Given the description of an element on the screen output the (x, y) to click on. 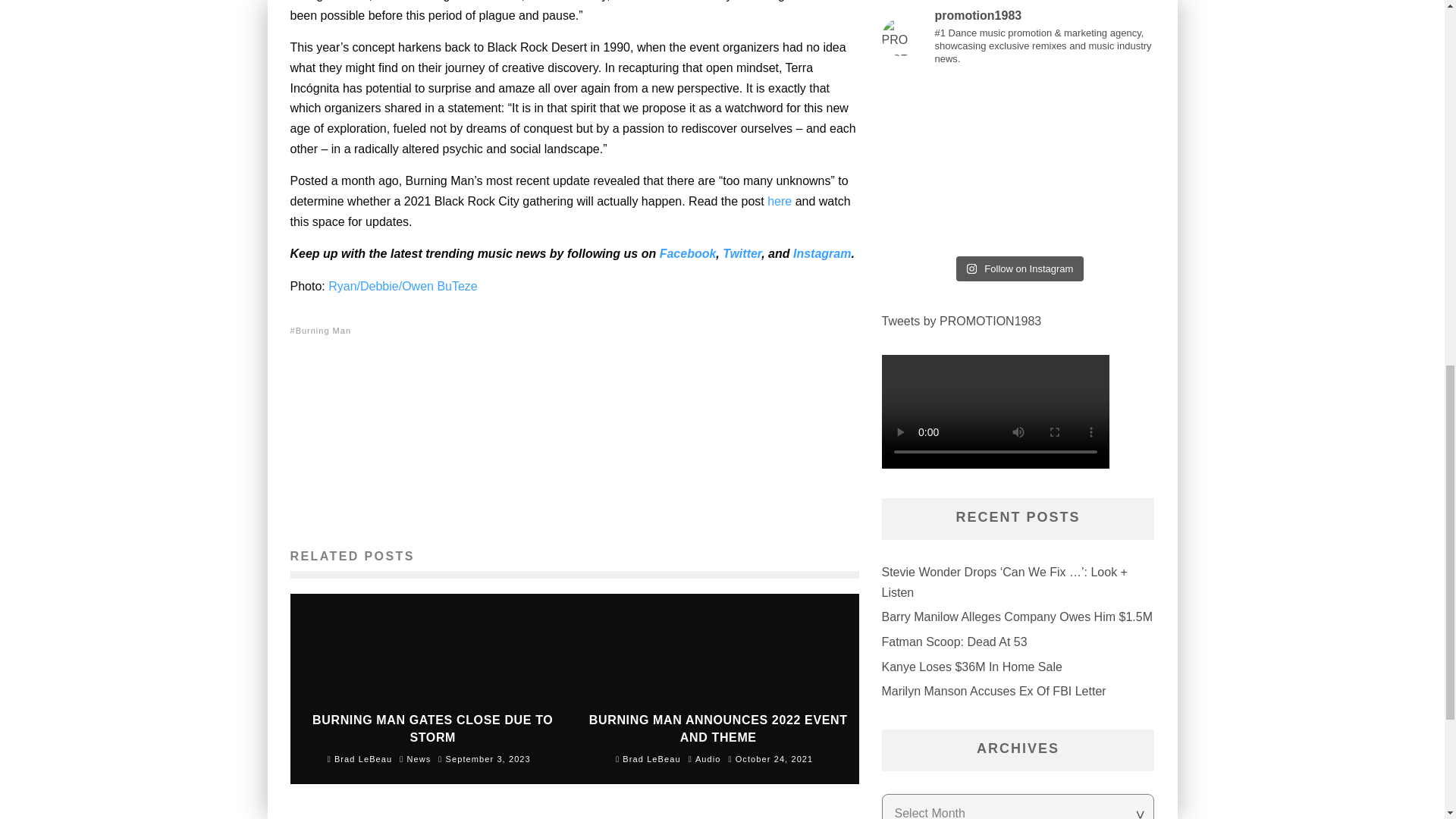
Instagram (821, 253)
Advertisement (581, 443)
BURNING MAN GATES CLOSE DUE TO STORM (433, 727)
Twitter (741, 253)
Audio (707, 758)
Brad LeBeau (648, 758)
Brad LeBeau (360, 758)
Burning Man (324, 329)
BURNING MAN ANNOUNCES 2022 EVENT AND THEME (718, 727)
News (418, 758)
